Given the description of an element on the screen output the (x, y) to click on. 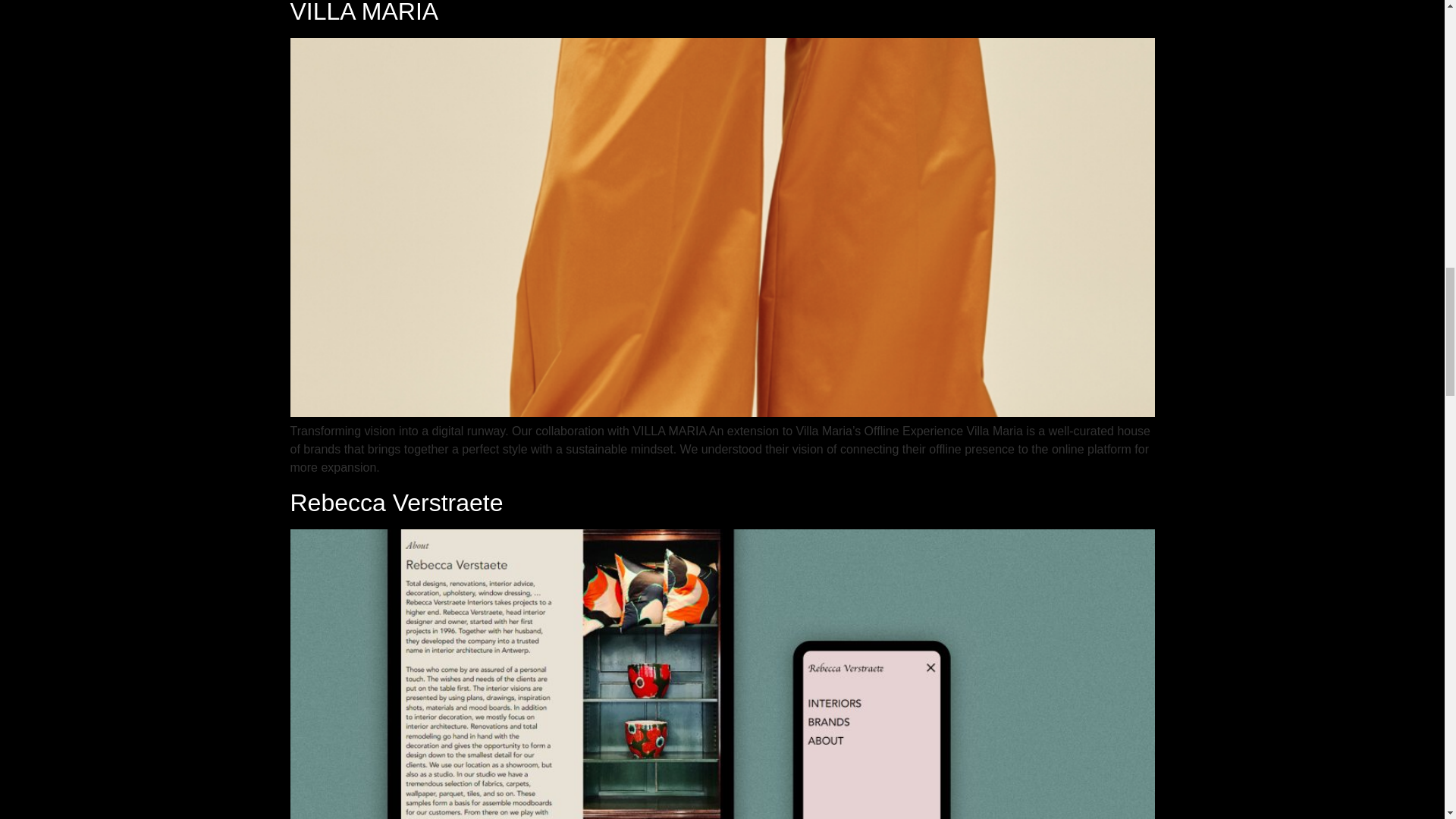
Rebecca Verstraete (395, 502)
VILLA MARIA (363, 12)
